Given the description of an element on the screen output the (x, y) to click on. 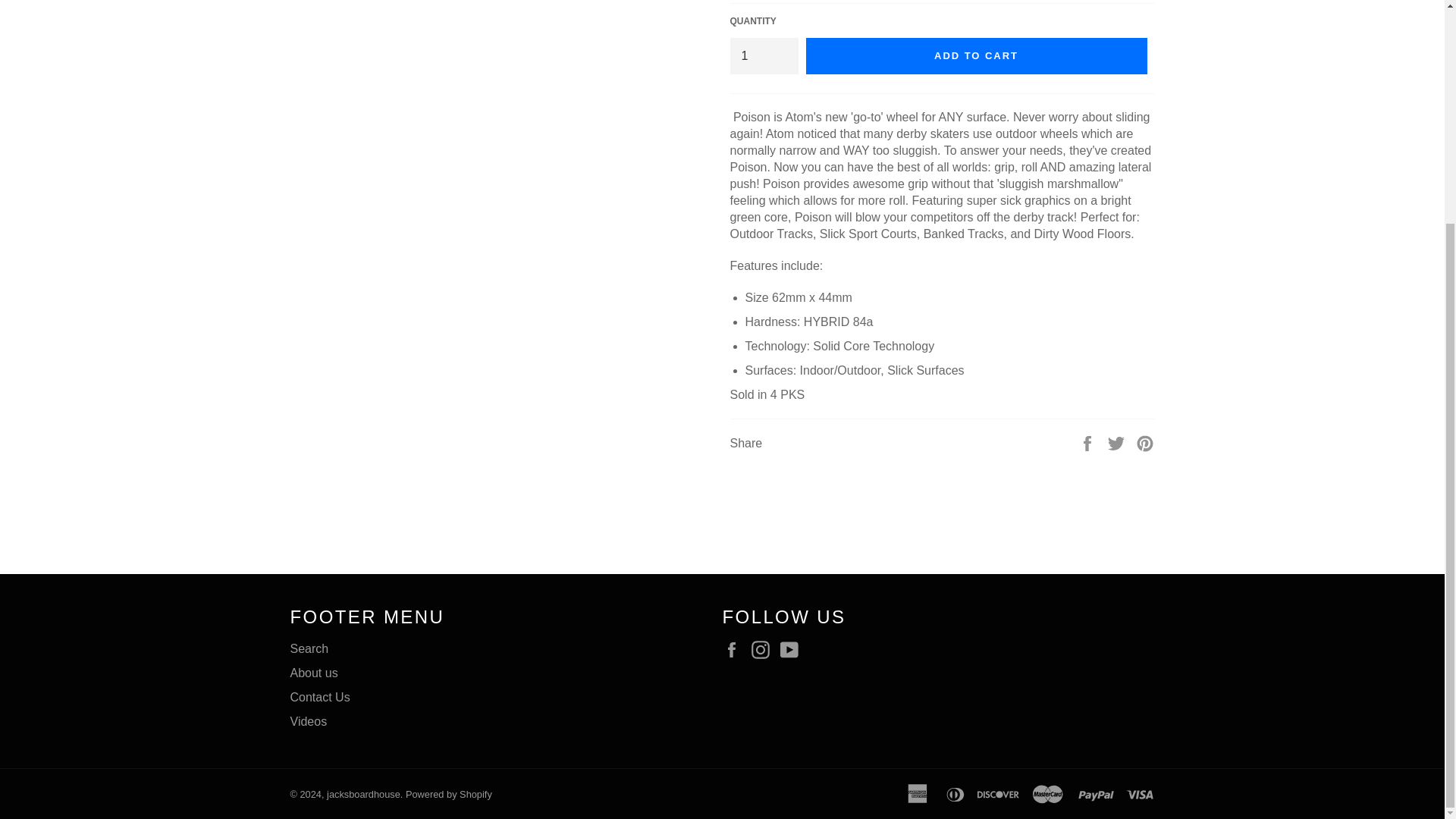
jacksboardhouse on Facebook (735, 649)
Share on Facebook (1088, 441)
jacksboardhouse on YouTube (793, 649)
Tweet on Twitter (1117, 441)
jacksboardhouse on Instagram (764, 649)
1 (763, 55)
Pin on Pinterest (1144, 441)
